Given the description of an element on the screen output the (x, y) to click on. 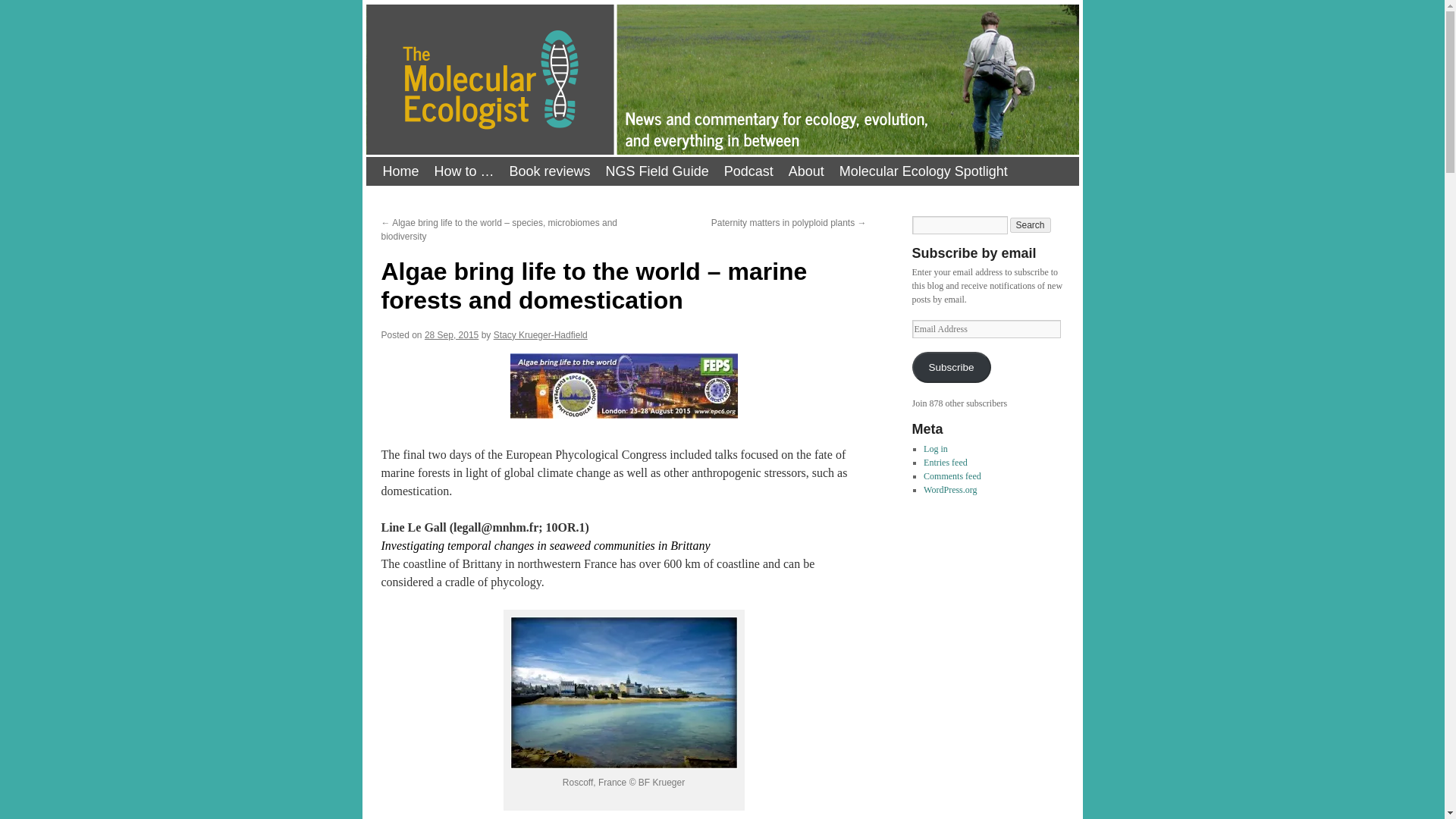
28 Sep, 2015 (452, 335)
View all posts by Stacy Krueger-Hadfield (540, 335)
11:16 (452, 335)
NGS Field Guide (657, 171)
how-to posts (464, 171)
Podcast (748, 171)
Molecular Ecology Spotlight (922, 171)
Search (1030, 224)
About (805, 171)
Home (400, 171)
Book reviews (550, 171)
Stacy Krueger-Hadfield (540, 335)
